Given the description of an element on the screen output the (x, y) to click on. 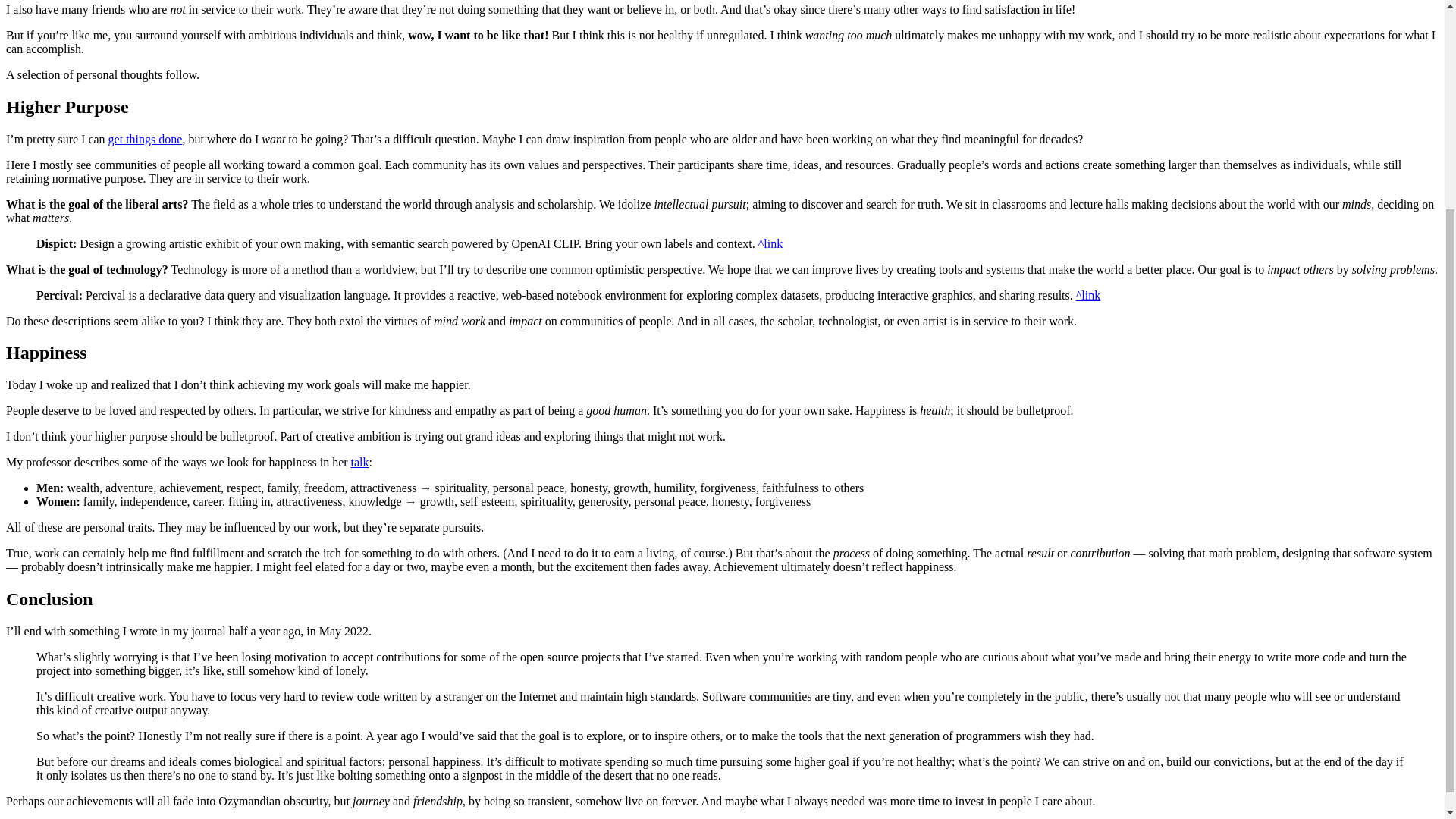
get things done (145, 138)
talk (359, 461)
